Given the description of an element on the screen output the (x, y) to click on. 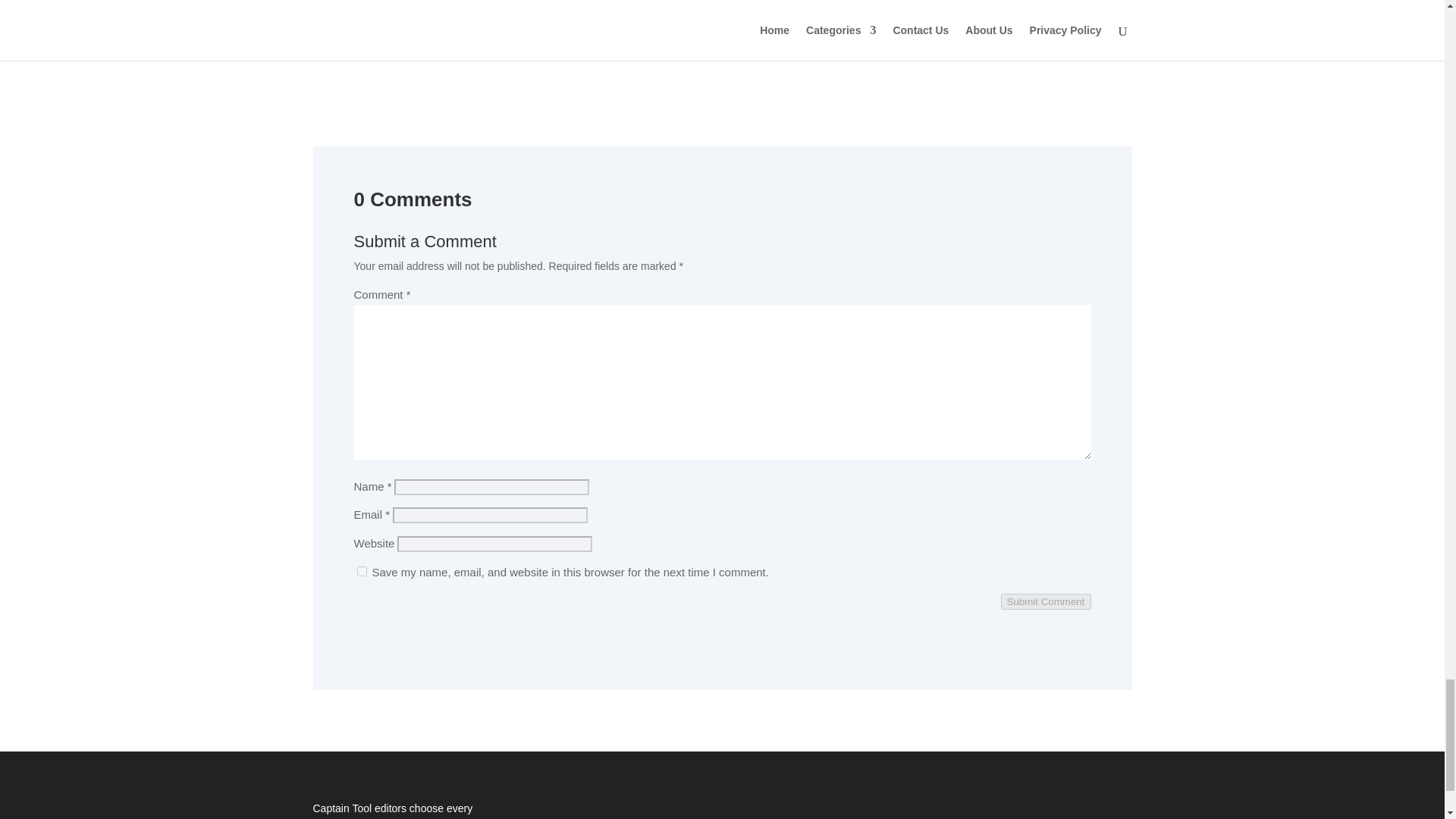
yes (361, 571)
Submit Comment (1045, 601)
